Given the description of an element on the screen output the (x, y) to click on. 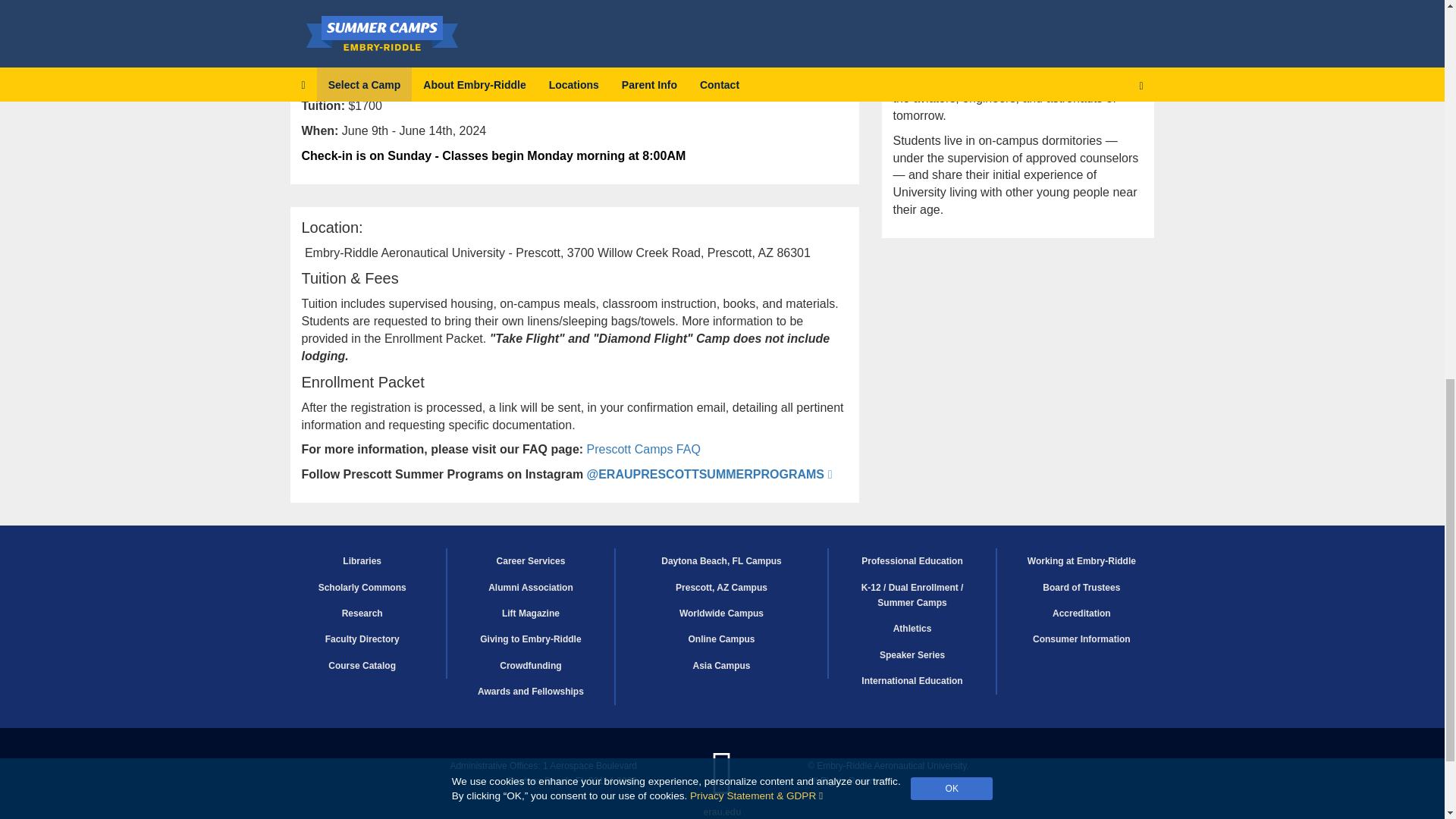
This link will open in a new window or tab. (756, 6)
Prescott Camps FAQ (643, 449)
This link will open in a new window or tab. (709, 473)
Libraries (361, 561)
